Given the description of an element on the screen output the (x, y) to click on. 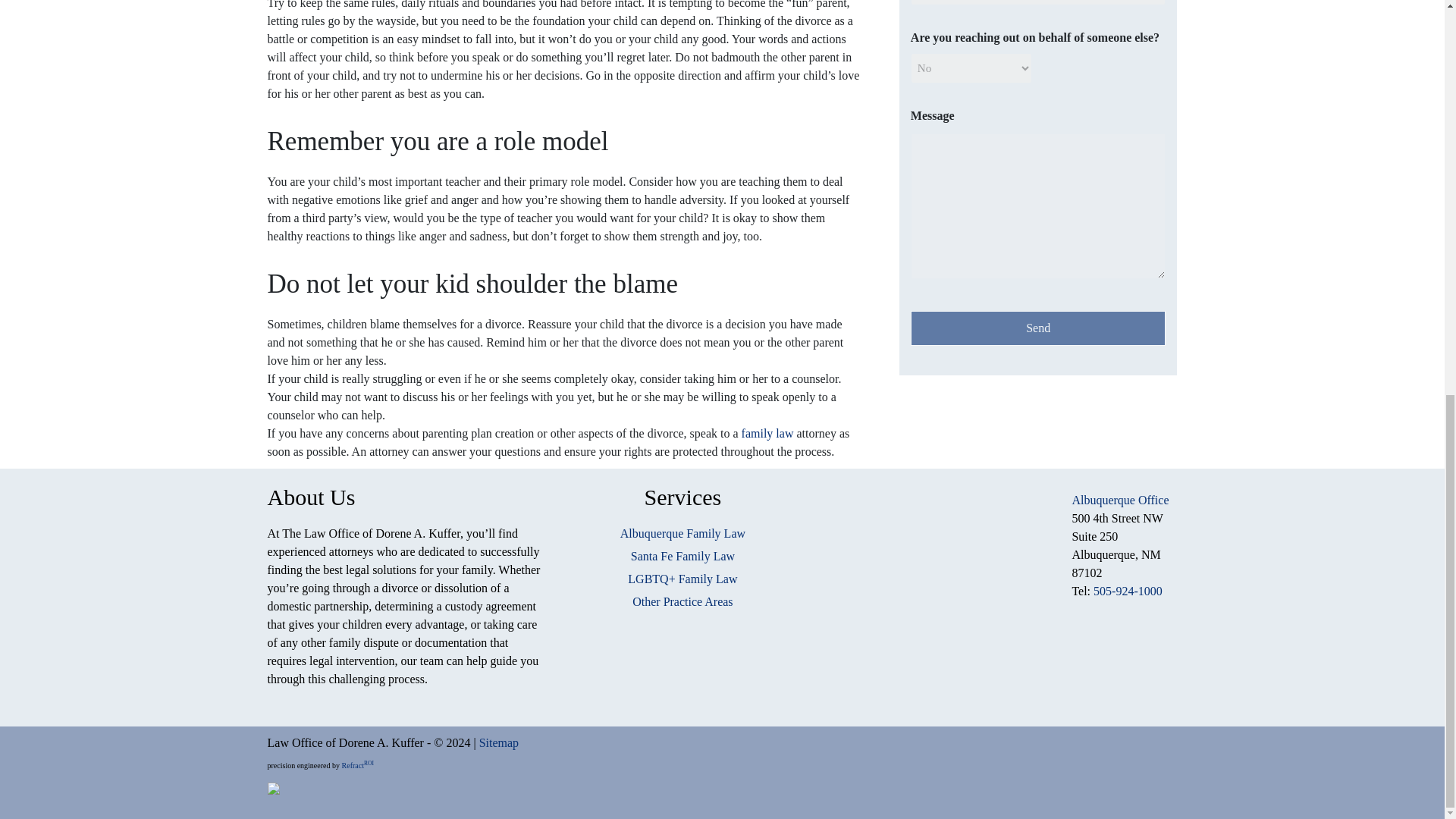
Map (935, 585)
sitemap (498, 742)
Send (1038, 328)
